Given the description of an element on the screen output the (x, y) to click on. 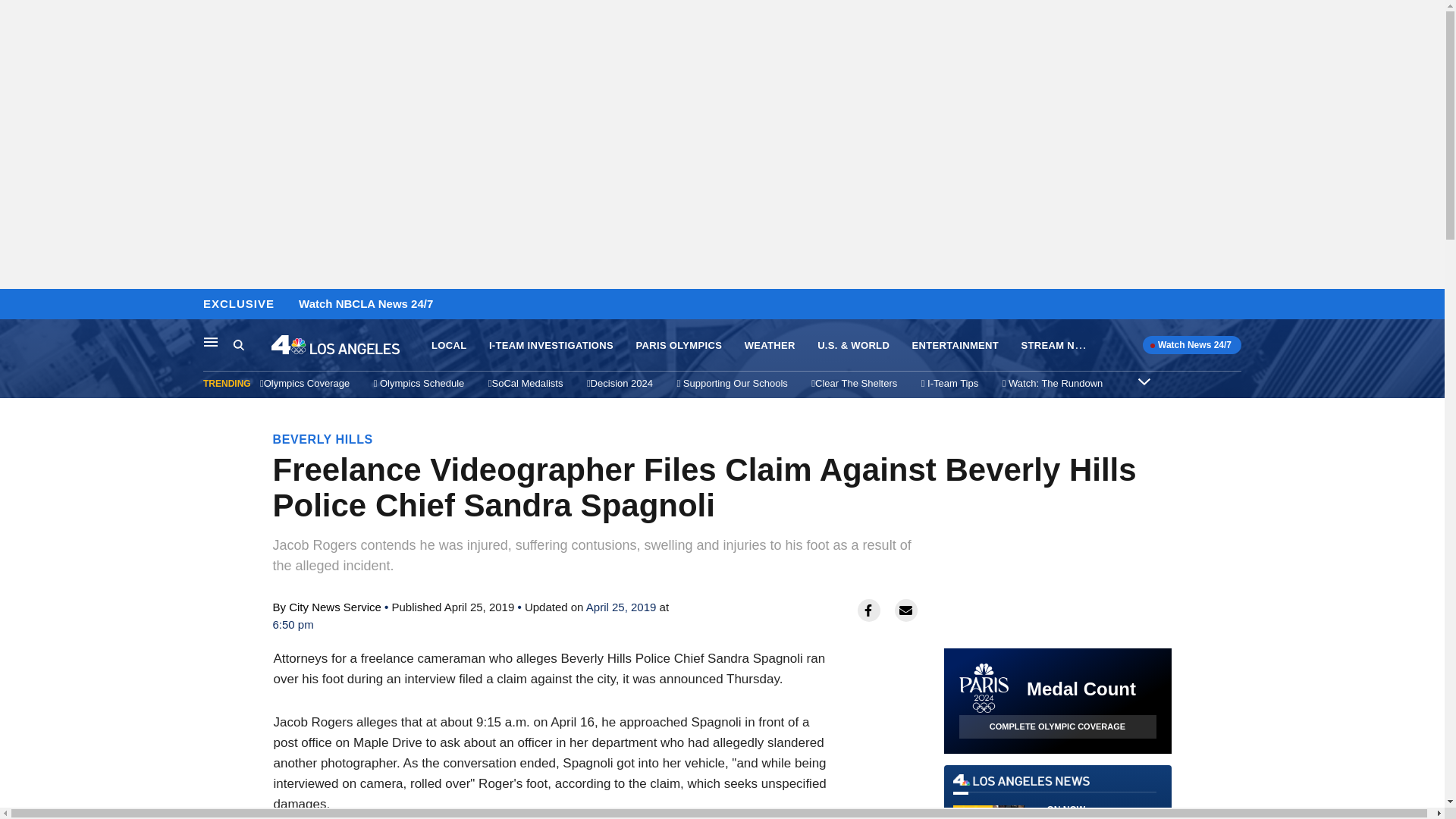
WEATHER (769, 345)
ENTERTAINMENT (955, 345)
BEVERLY HILLS (322, 439)
Expand (1144, 381)
Main Navigation (210, 341)
Search (238, 344)
PARIS OLYMPICS (1056, 796)
Skip to content (678, 345)
Search (16, 304)
LOCAL (252, 345)
I-TEAM INVESTIGATIONS (447, 345)
COMPLETE OLYMPIC COVERAGE (550, 345)
